Given the description of an element on the screen output the (x, y) to click on. 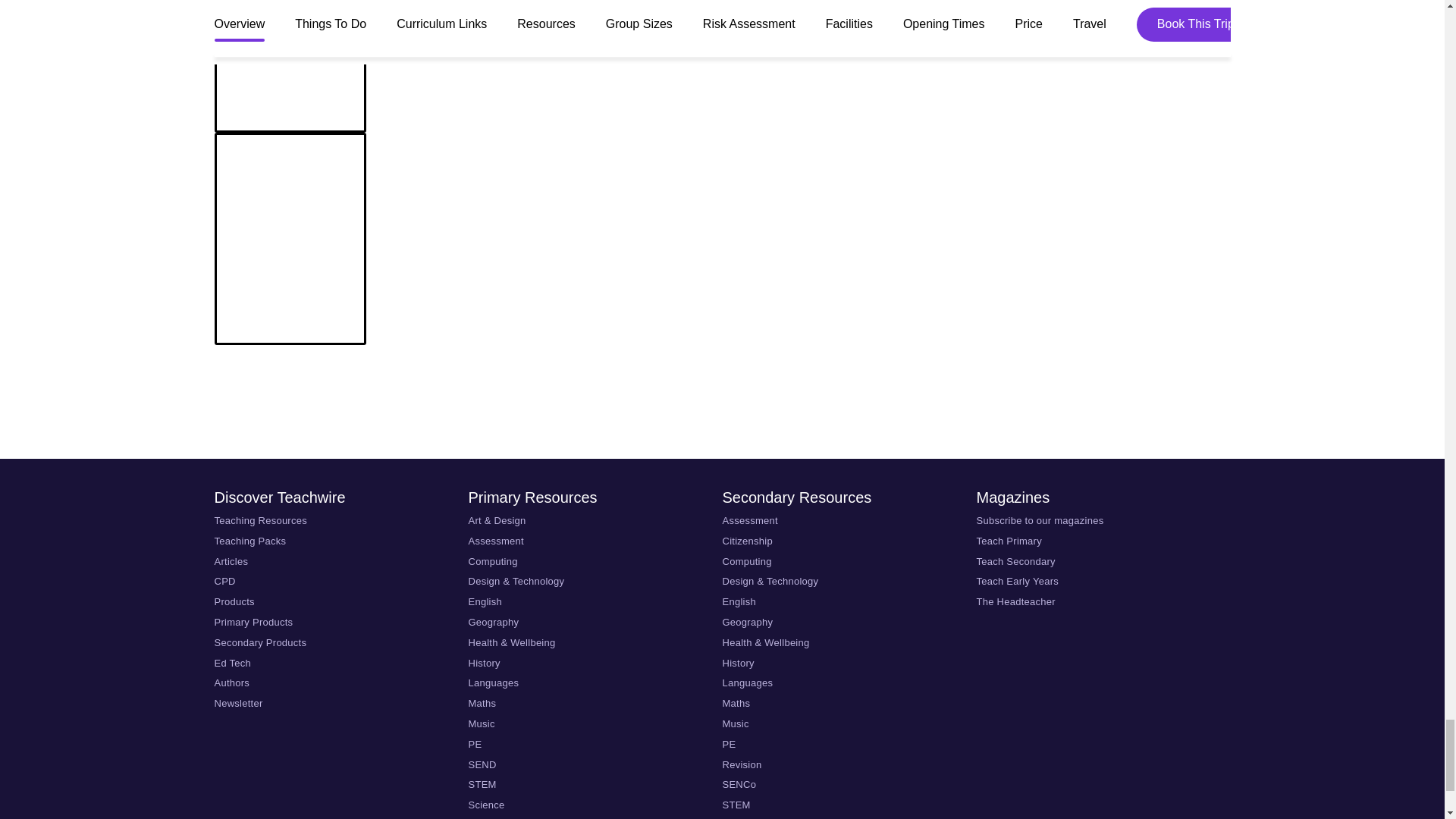
3rd party ad content (721, 401)
